Given the description of an element on the screen output the (x, y) to click on. 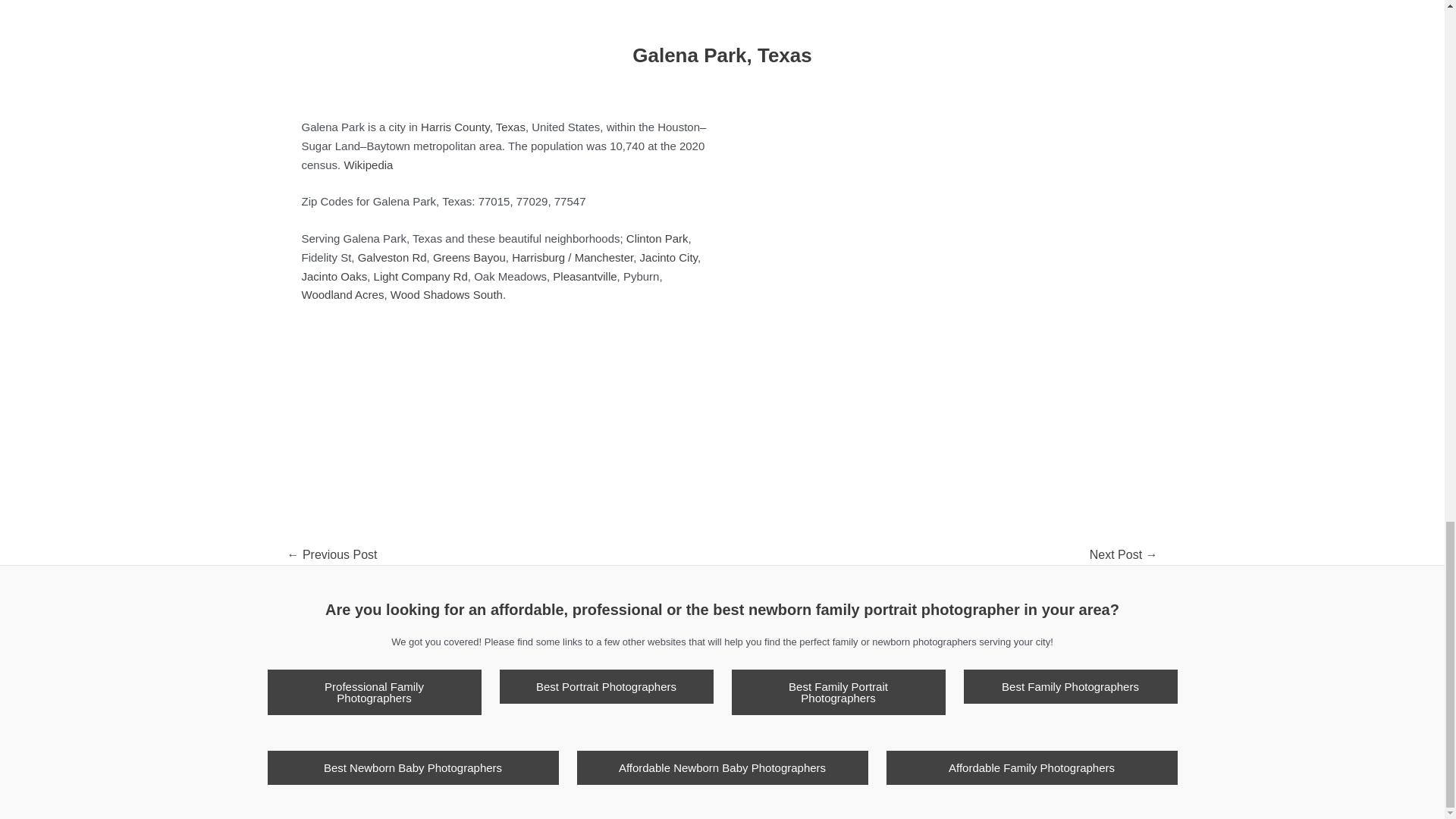
Light Company Rd (420, 276)
Jacinto Oaks (334, 276)
Clinton Park (657, 237)
Professional Family Photographers (373, 691)
Greens Bayou (468, 256)
Best Family Portrait Photographers (837, 691)
Jacinto City (668, 256)
Kemah Texas (330, 554)
Galveston Rd (392, 256)
Wikipedia (368, 164)
Best Newborn Baby Photographers (411, 767)
Woodland Acres (342, 294)
Aldine Texas (1123, 554)
Pleasantville (584, 276)
Wood Shadows South (446, 294)
